Given the description of an element on the screen output the (x, y) to click on. 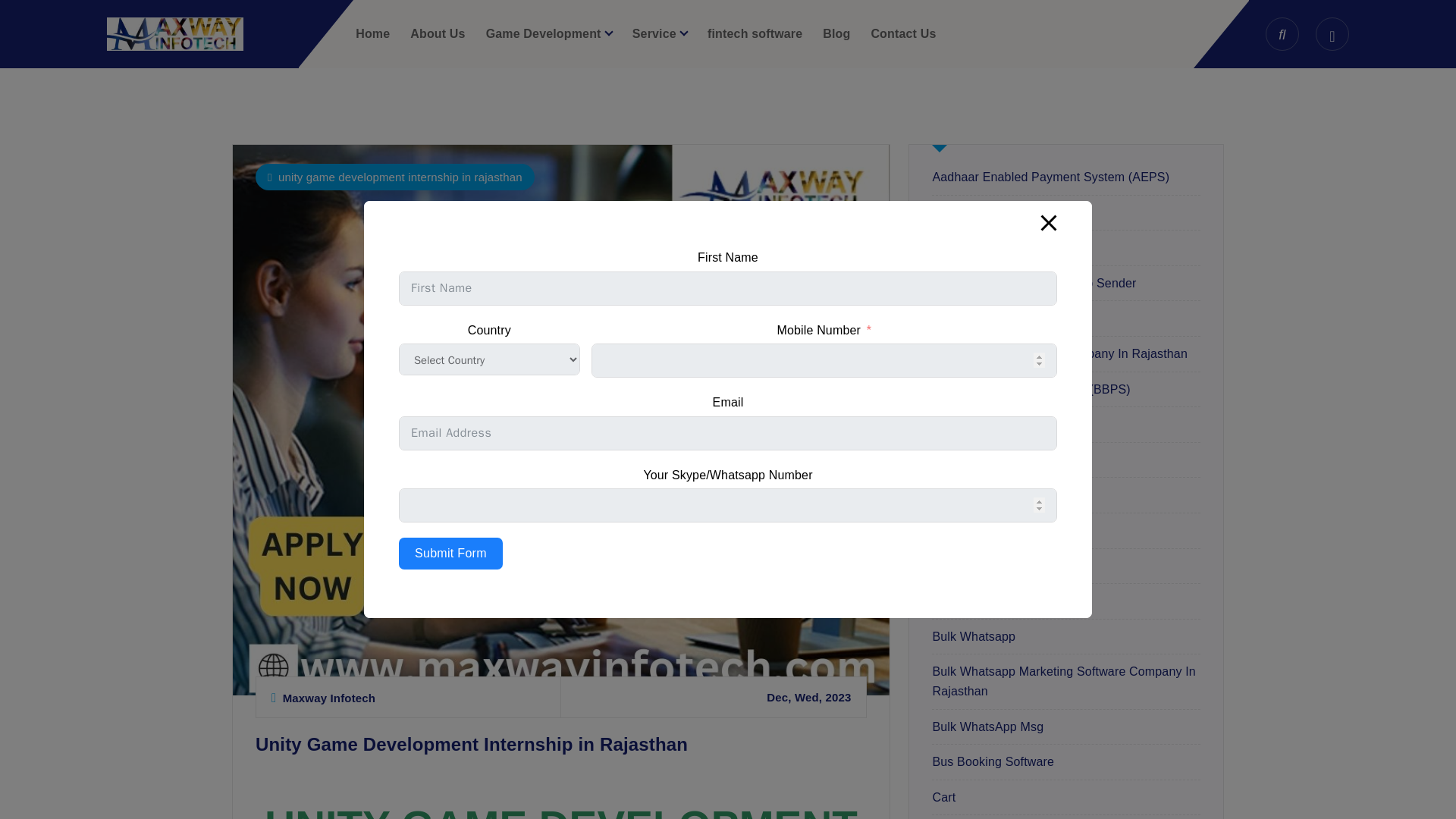
Service (659, 33)
About Us (437, 33)
Contact Us (903, 33)
Service (659, 33)
About Us (437, 33)
Blog (836, 33)
Game Development (548, 33)
Home (372, 33)
Home (372, 33)
fintech software (754, 33)
